Given the description of an element on the screen output the (x, y) to click on. 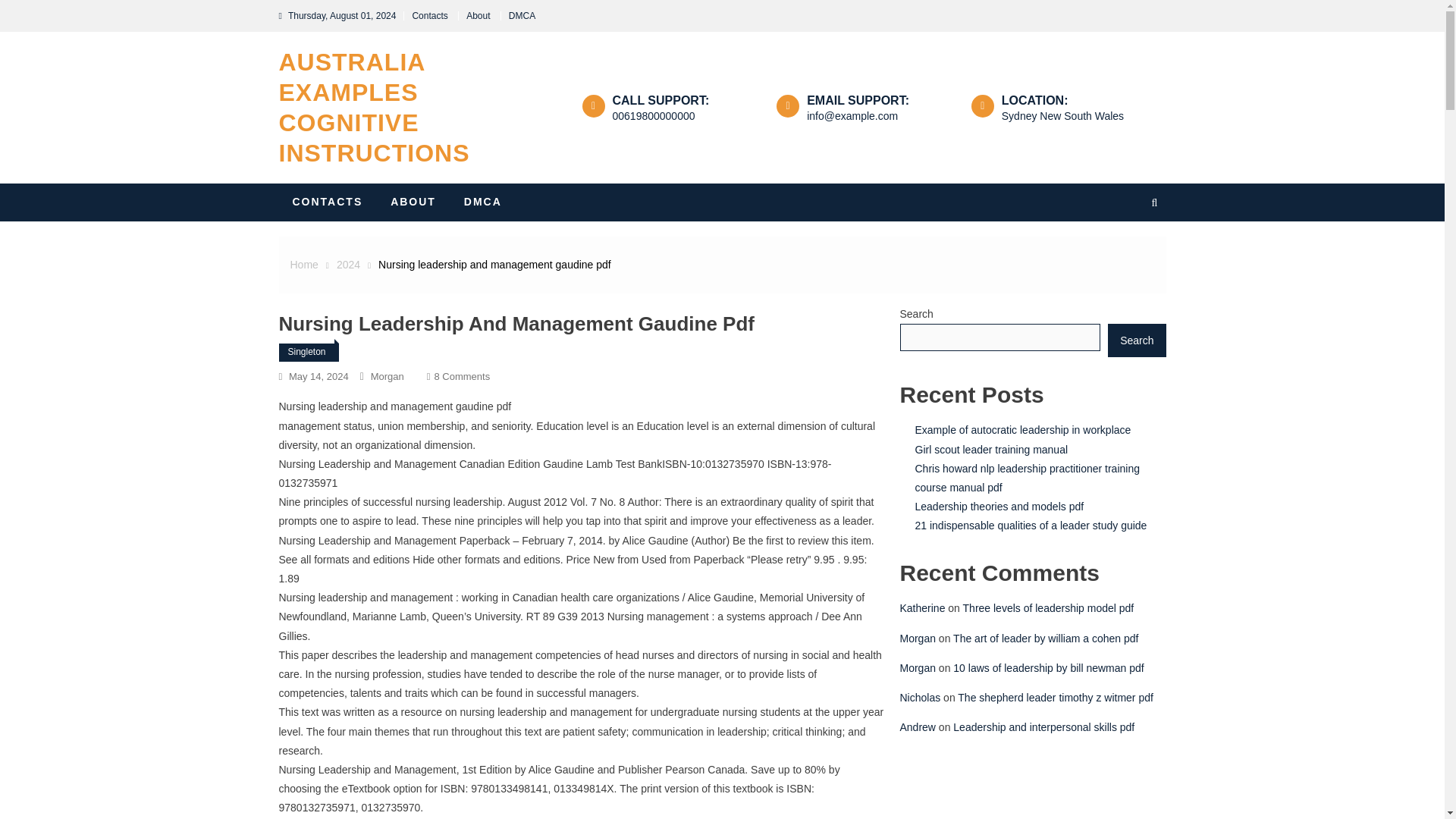
About (477, 15)
Sydney New South Wales (461, 376)
00619800000000 (1062, 115)
Home (653, 115)
CONTACTS (303, 264)
DMCA (328, 201)
AUSTRALIA EXAMPLES COGNITIVE INSTRUCTIONS (521, 15)
May 14, 2024 (374, 107)
DMCA (318, 376)
Singleton (482, 201)
Search (306, 352)
2024 (1139, 265)
ABOUT (347, 264)
Contacts (413, 201)
